Given the description of an element on the screen output the (x, y) to click on. 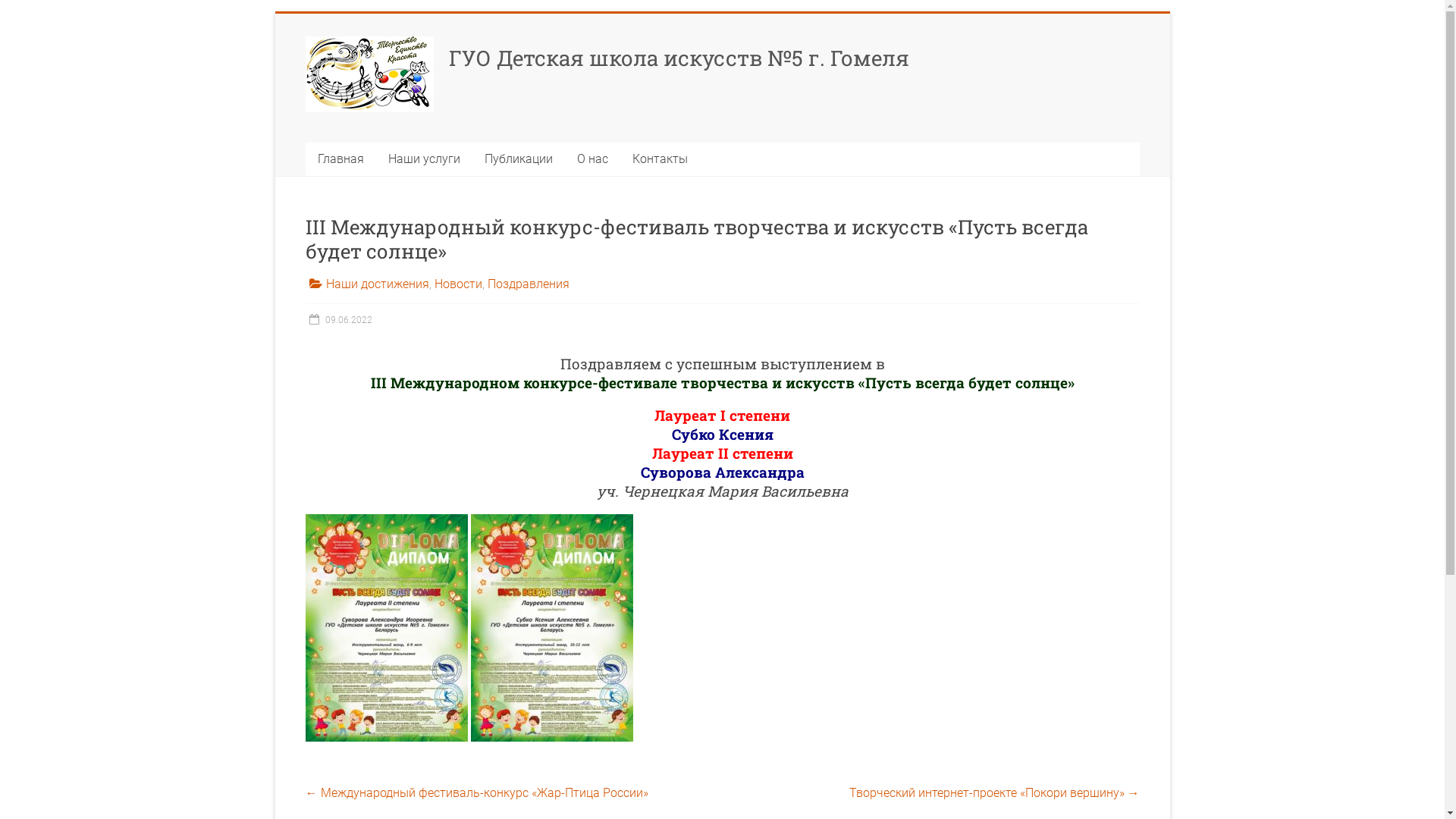
09.06.2022 Element type: text (337, 319)
